Given the description of an element on the screen output the (x, y) to click on. 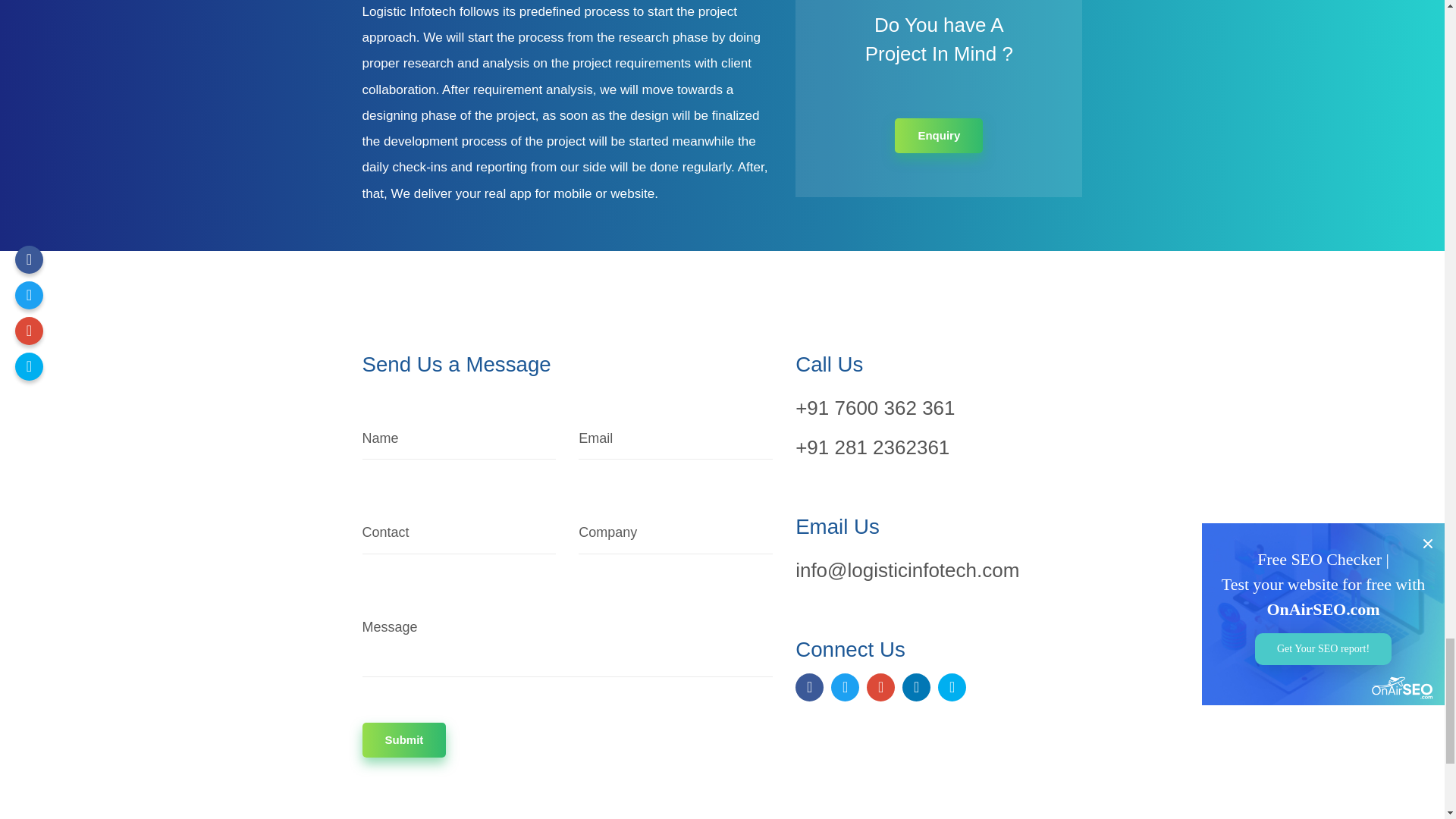
LinkedIn (916, 687)
Twitter (845, 687)
Facebook (809, 687)
